Given the description of an element on the screen output the (x, y) to click on. 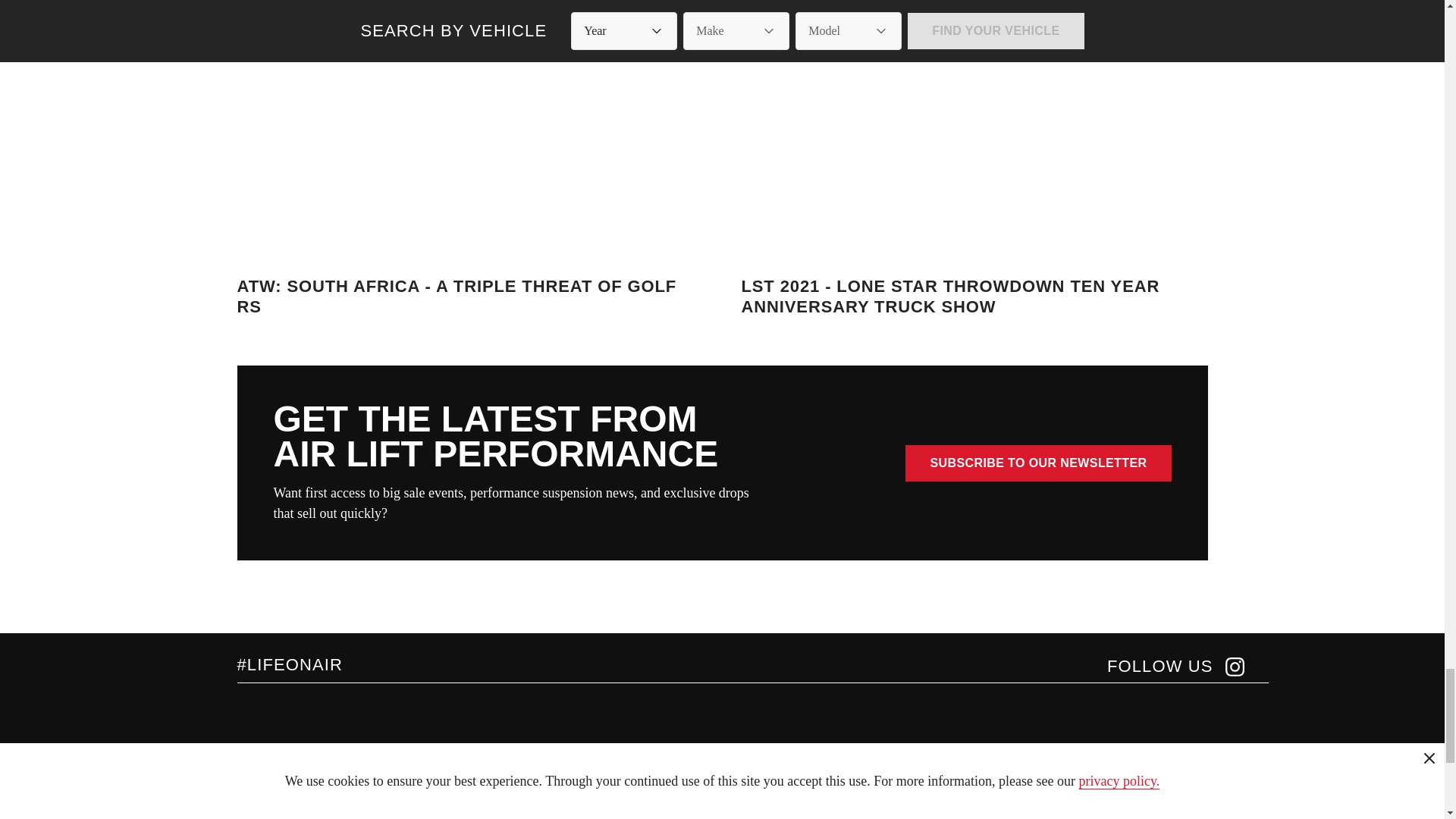
Terms of Service (541, 816)
Shop All (257, 816)
Get Support (398, 816)
ATW: SOUTH AFRICA - A TRIPLE THREAT OF GOLF RS (469, 179)
FOLLOW US (1174, 666)
SUBSCRIBE TO OUR NEWSLETTER (1037, 463)
